Given the description of an element on the screen output the (x, y) to click on. 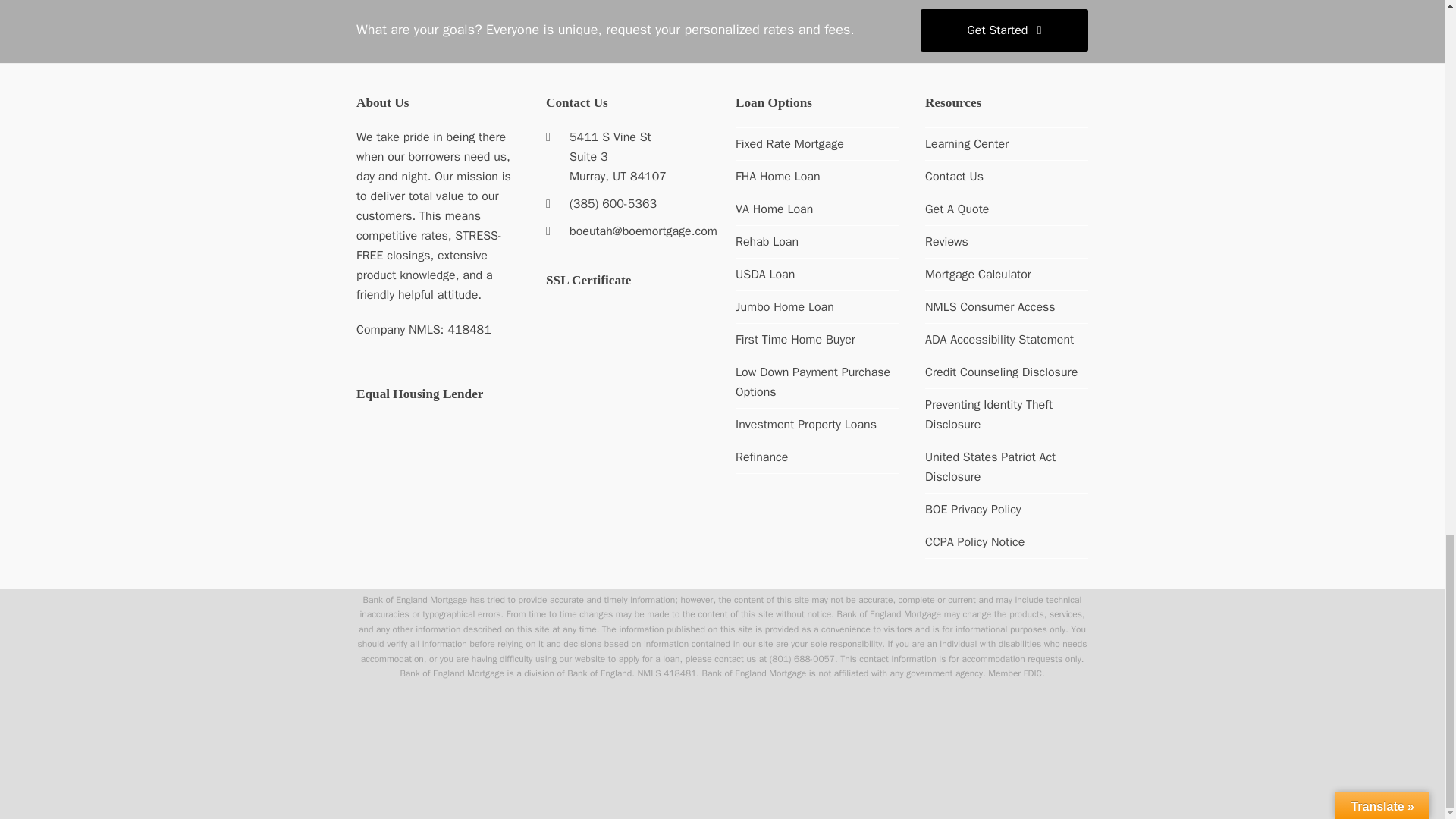
Rehab Loan (766, 241)
FHA Home Loan (778, 176)
VA Home Loan (773, 209)
Get Started (1003, 30)
Fixed Rate Mortgage (789, 143)
